Given the description of an element on the screen output the (x, y) to click on. 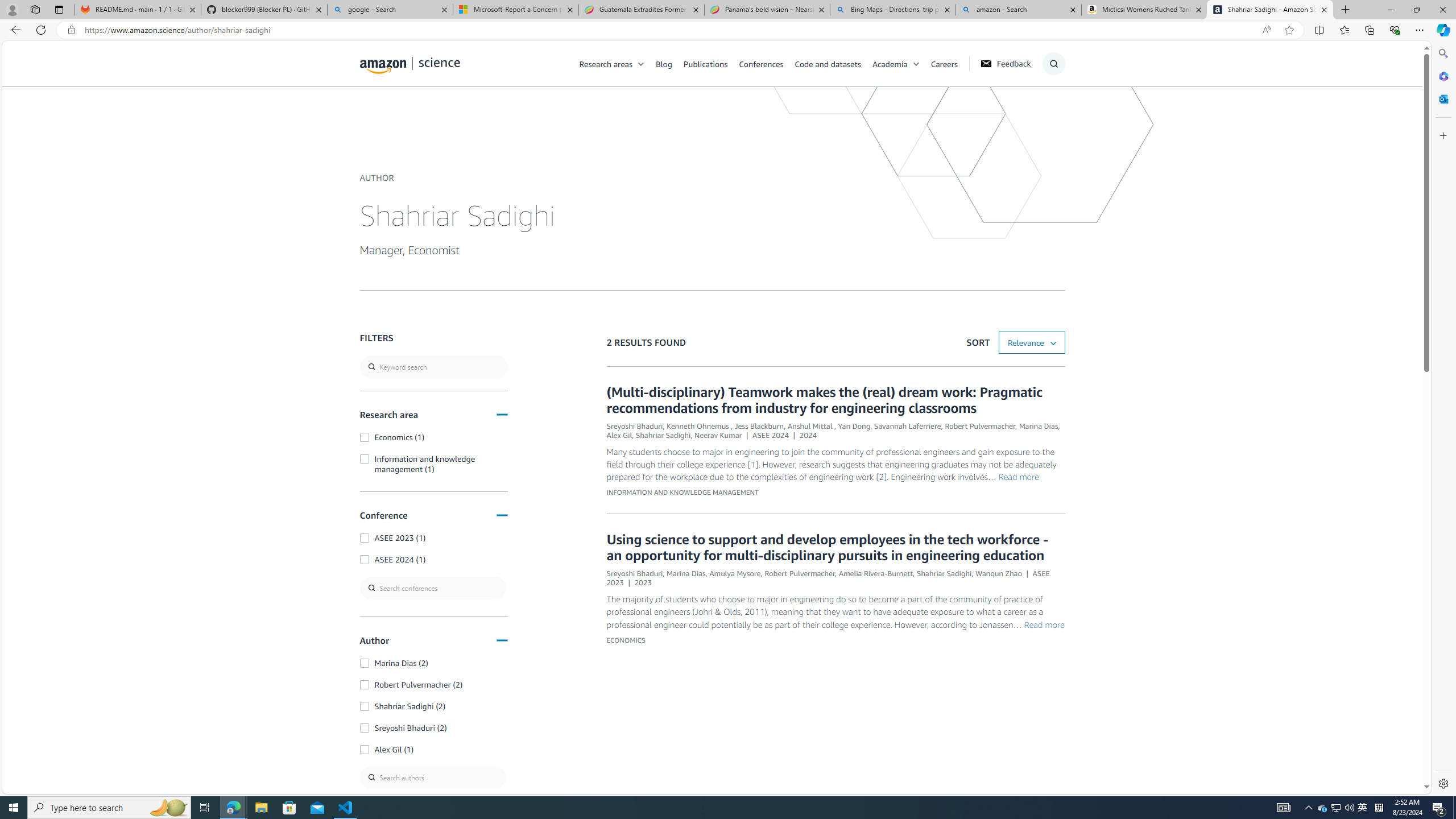
Research areas (617, 63)
Marina Dias (685, 573)
search (433, 366)
Open Sub Navigation (916, 63)
Read more (1043, 624)
